Given the description of an element on the screen output the (x, y) to click on. 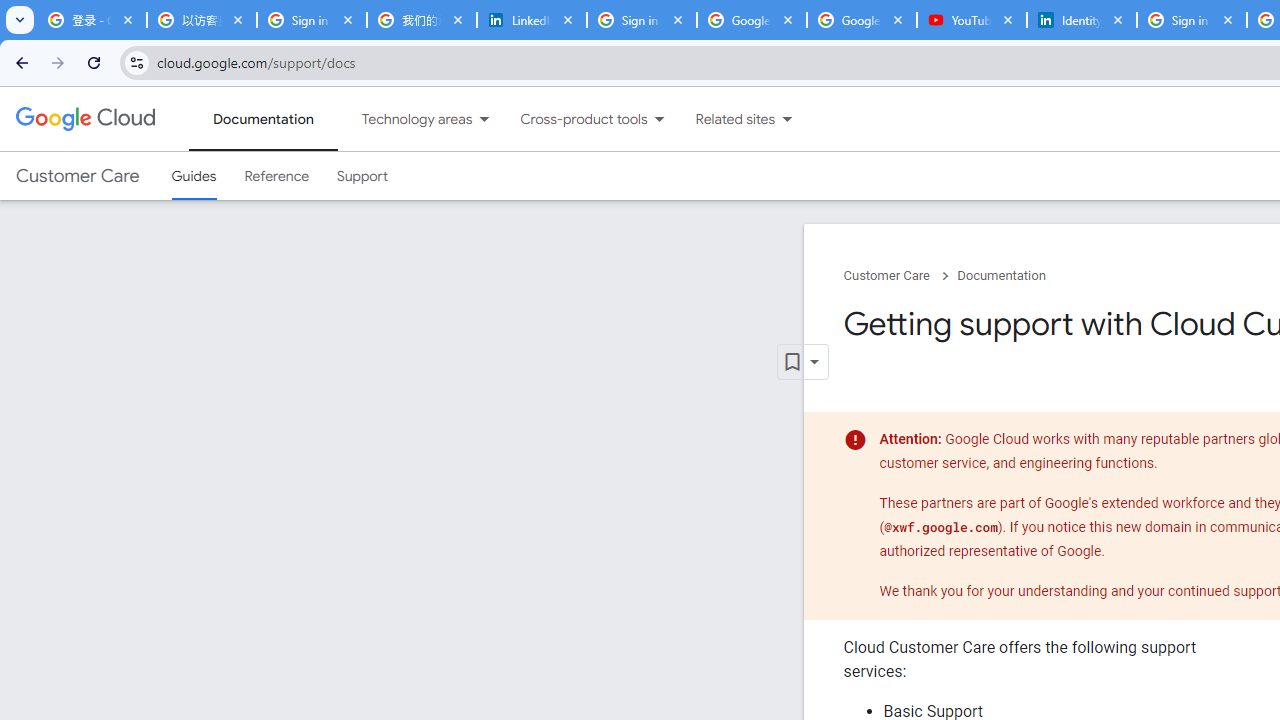
Reference (276, 175)
Technology areas (404, 119)
LinkedIn Privacy Policy (532, 20)
Documentation (1001, 276)
Support (362, 175)
Open dropdown (802, 362)
Related sites (722, 119)
Documentation, selected (263, 119)
